Given the description of an element on the screen output the (x, y) to click on. 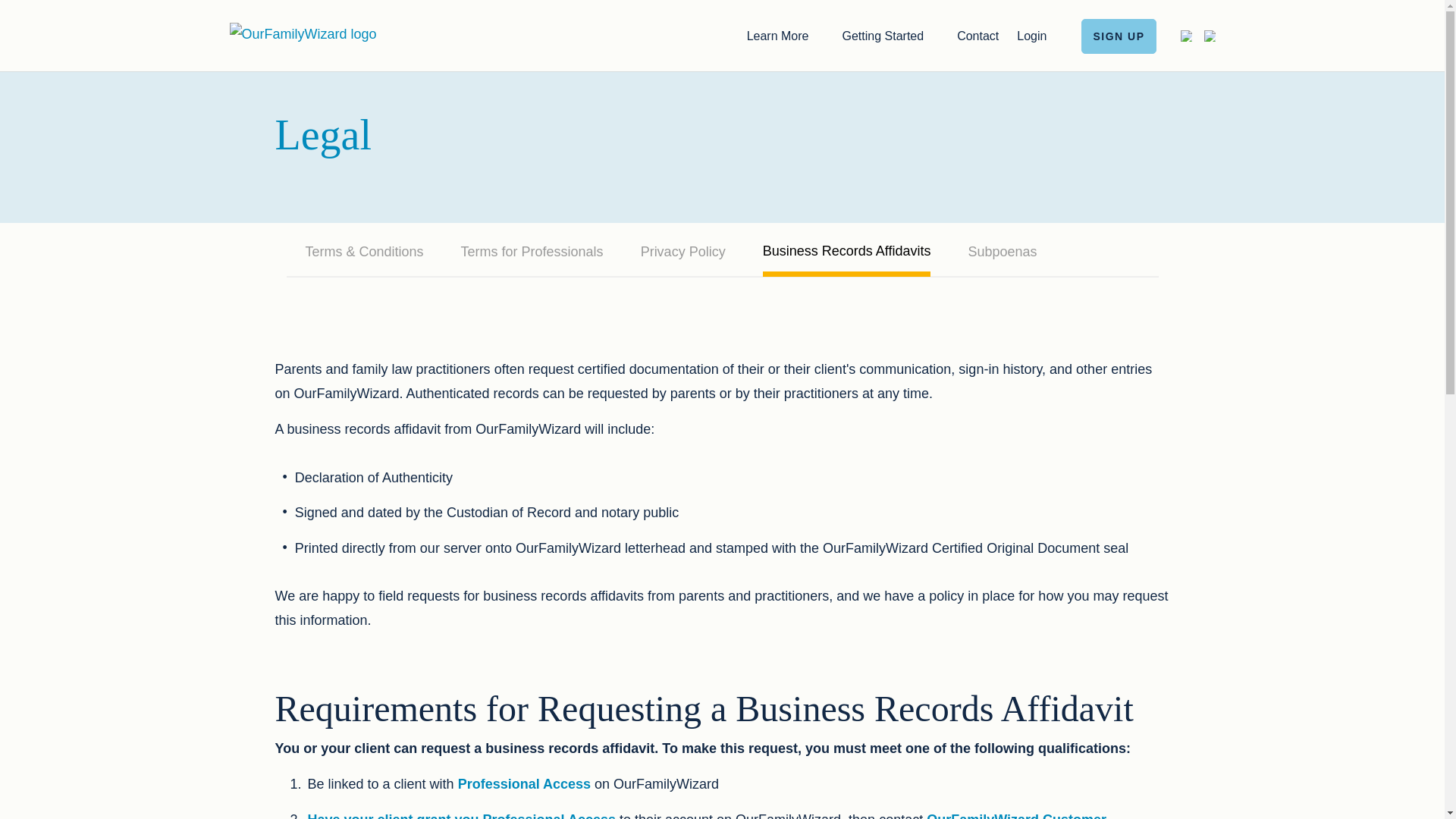
Contact (977, 35)
OurFamilyWizard (301, 32)
SIGN UP (1118, 35)
